Given the description of an element on the screen output the (x, y) to click on. 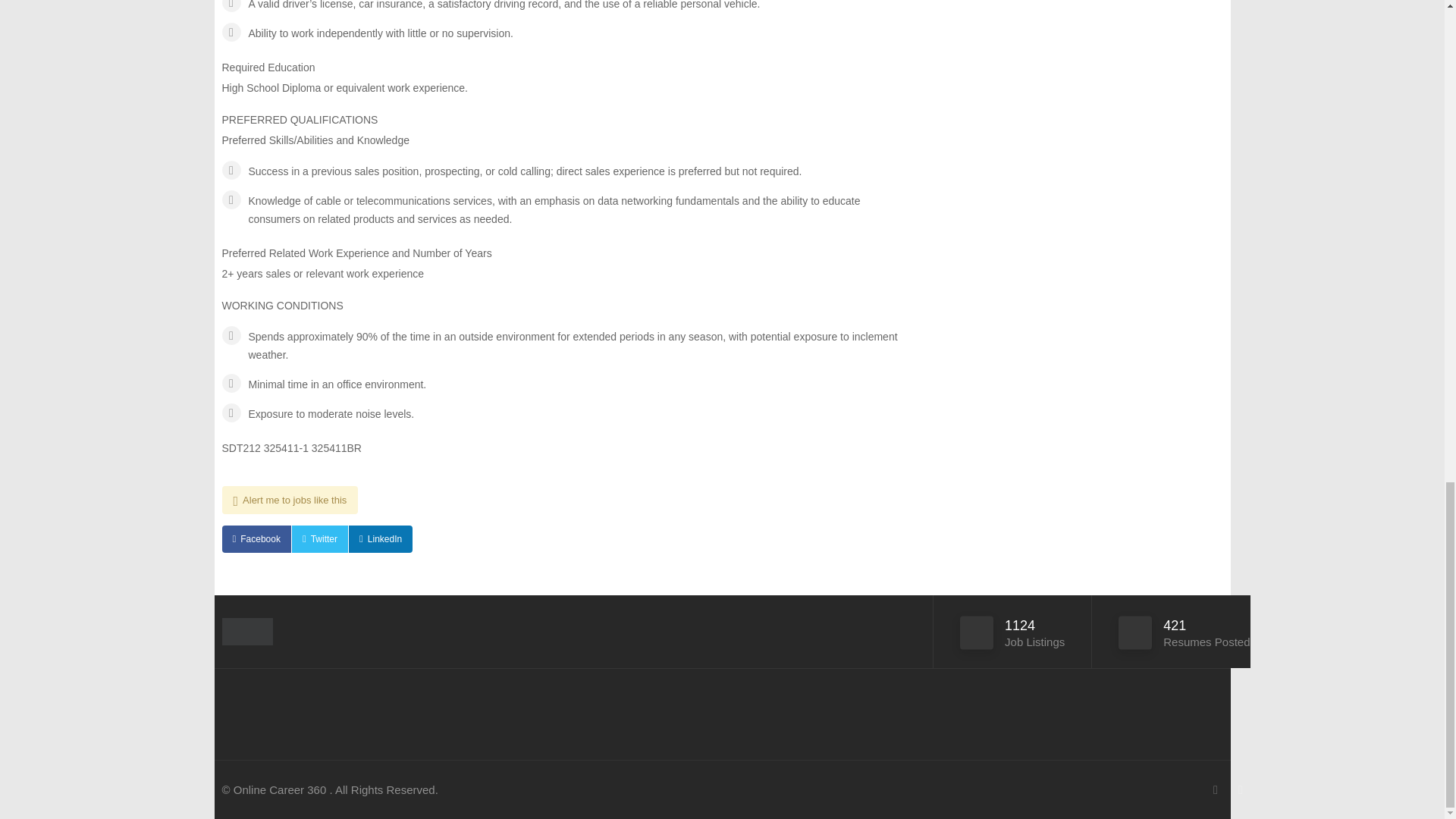
Twitter (319, 538)
Alert me to jobs like this (289, 500)
Twitter (319, 538)
Facebook (255, 538)
LinkedIn (380, 538)
